Given the description of an element on the screen output the (x, y) to click on. 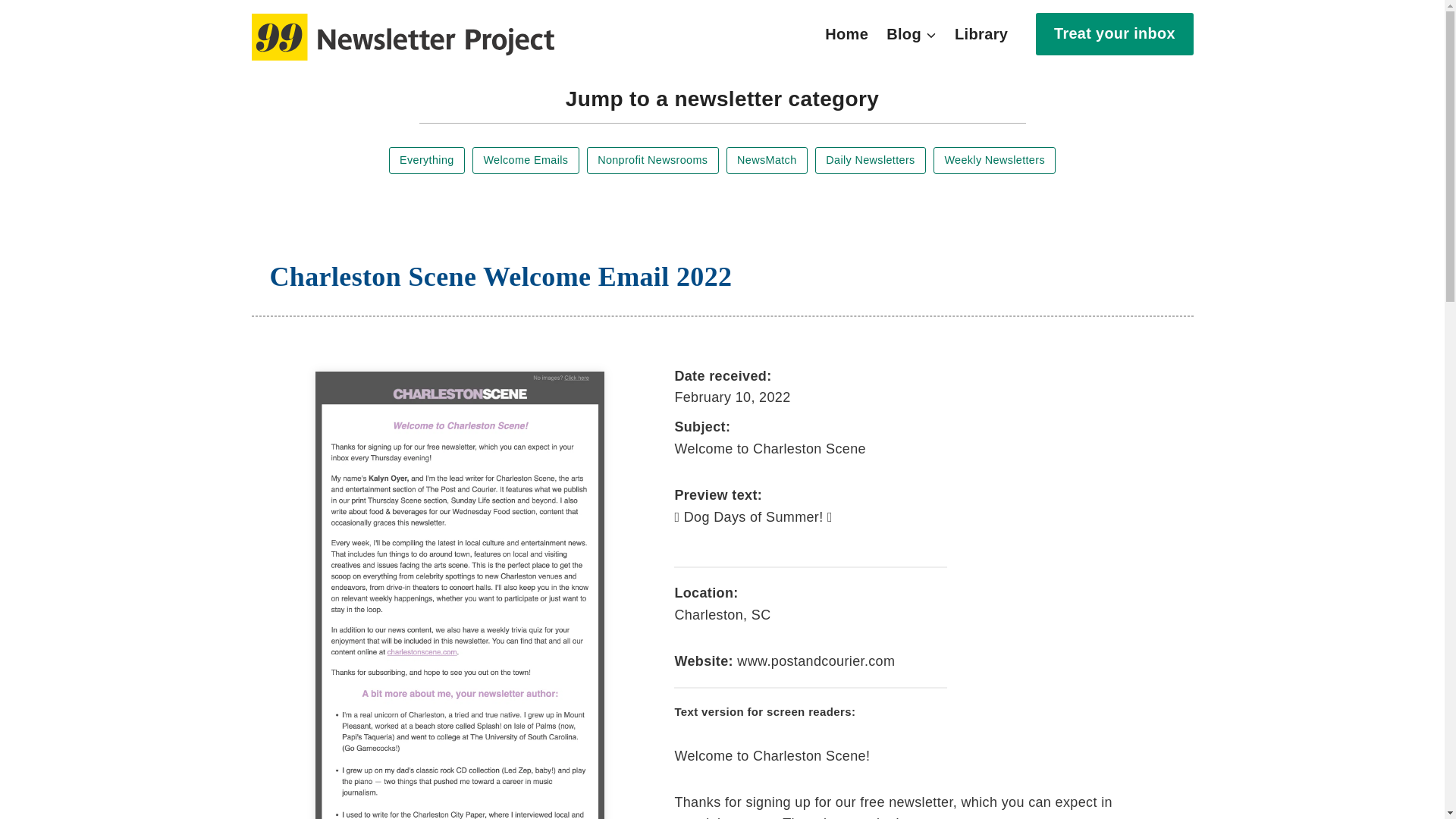
Weekly Newsletters (994, 160)
Welcome Emails (525, 160)
Blog (910, 34)
Everything (426, 160)
Nonprofit Newsrooms (652, 160)
NewsMatch (767, 160)
Treat your inbox (1113, 33)
Daily Newsletters (870, 160)
Library (980, 34)
Home (846, 34)
